Given the description of an element on the screen output the (x, y) to click on. 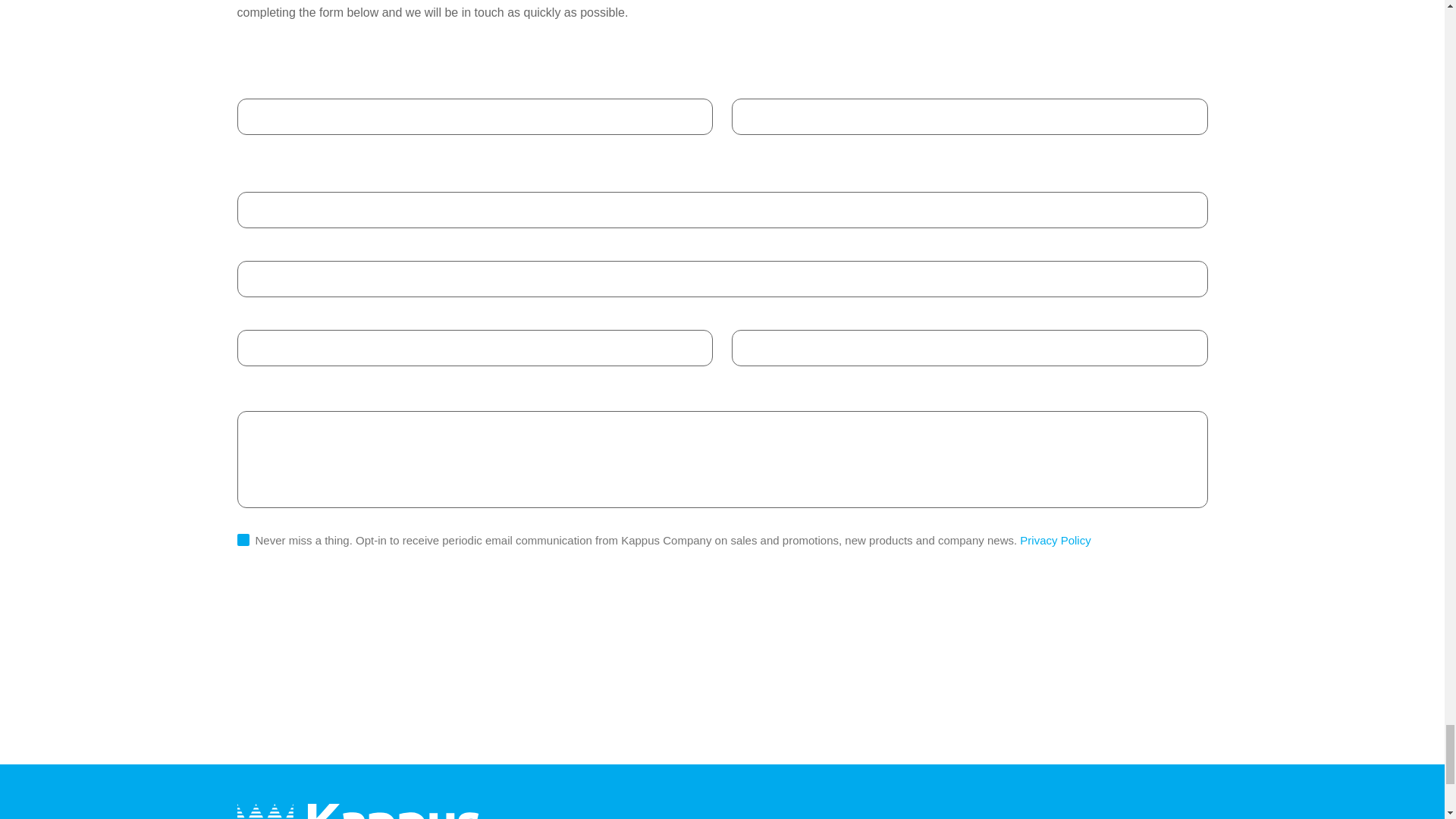
Kappus Logo (357, 811)
Submit (279, 617)
Follow on Facebook (1121, 814)
Follow on Instagram (1190, 814)
Follow on LinkedIn (1051, 814)
